Given the description of an element on the screen output the (x, y) to click on. 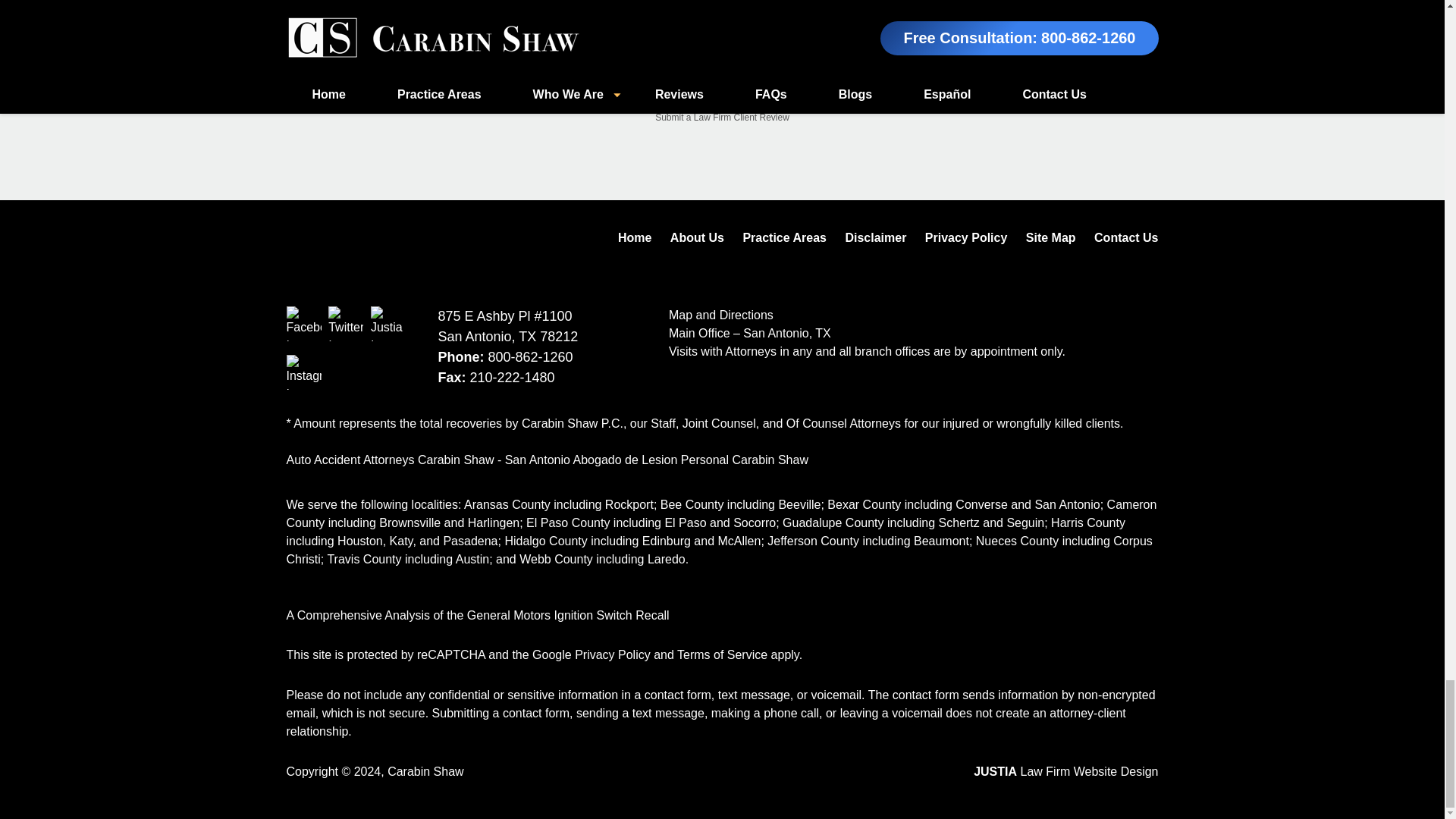
Instagram (303, 371)
Twitter (345, 323)
Justia (388, 323)
Facebook (303, 323)
